Given the description of an element on the screen output the (x, y) to click on. 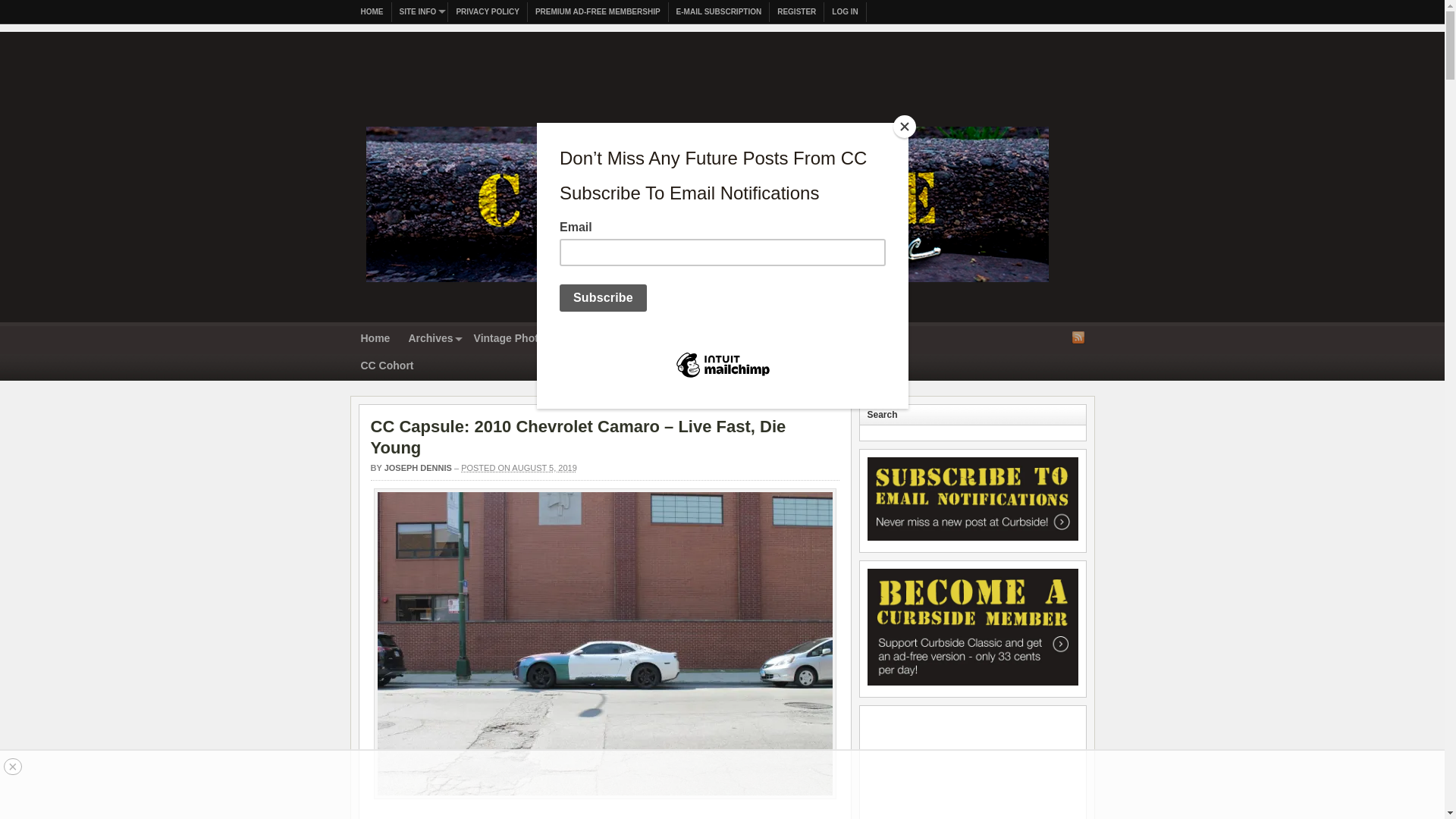
Archives (431, 338)
Joseph Dennis (417, 467)
Curbside Classic (706, 286)
PRIVACY POLICY (487, 12)
SITE INFO (419, 12)
HOME (372, 12)
REGISTER (797, 12)
Curbside Classic RSS Feed (1078, 337)
Home (375, 338)
LOG IN (845, 12)
E-MAIL SUBSCRIPTION (719, 12)
2019-08-05T06:00:59-07:00 (518, 467)
PREMIUM AD-FREE MEMBERSHIP (597, 12)
Vintage Photos (512, 338)
